Given the description of an element on the screen output the (x, y) to click on. 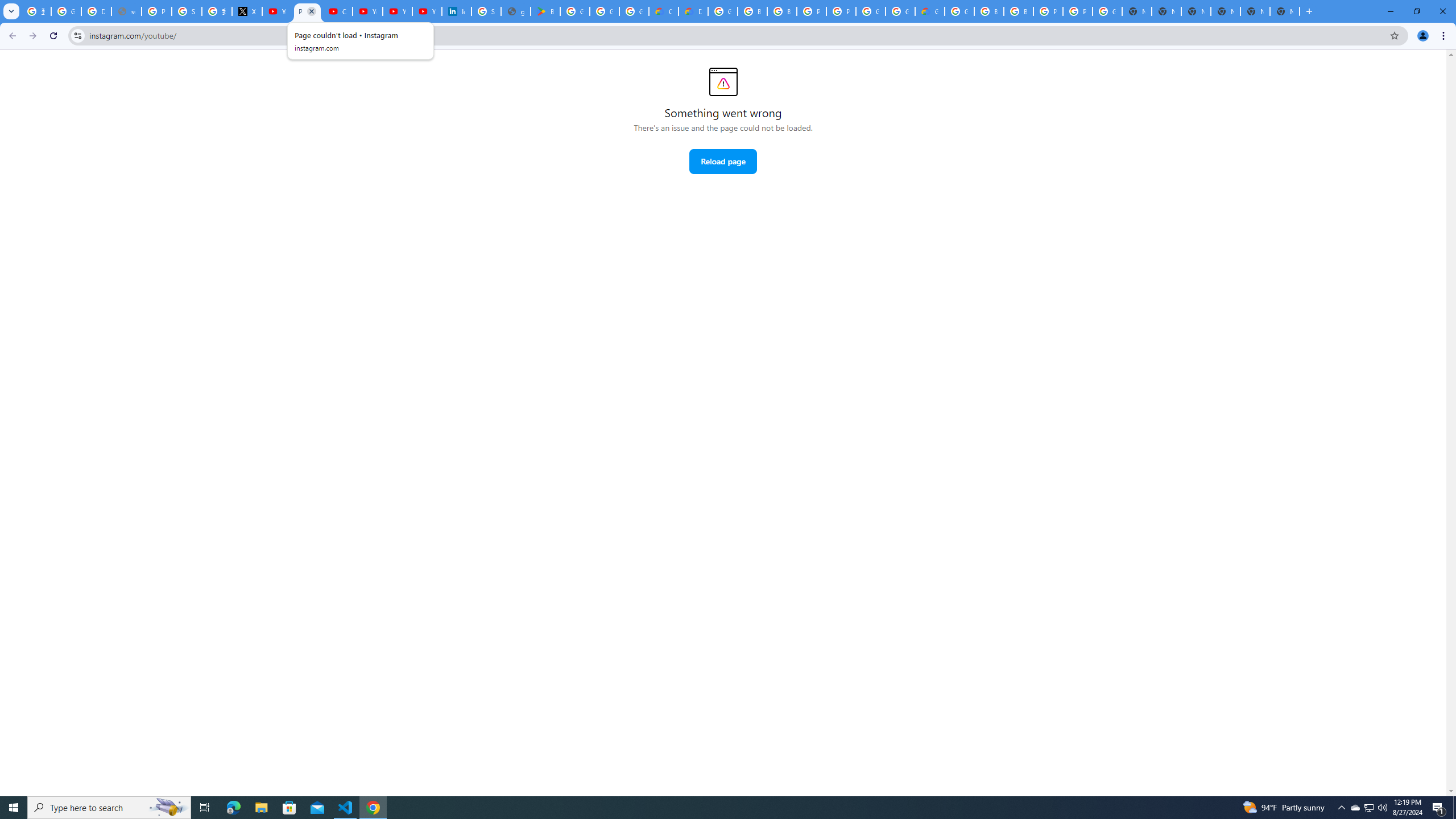
Google Cloud Platform (722, 11)
Google Cloud Platform (870, 11)
support.google.com - Network error (126, 11)
YouTube Content Monetization Policies - How YouTube Works (277, 11)
Sign in - Google Accounts (185, 11)
Google Cloud Platform (1106, 11)
Bluey: Let's Play! - Apps on Google Play (544, 11)
New Tab (1224, 11)
Google Workspace - Specific Terms (604, 11)
X (247, 11)
